Given the description of an element on the screen output the (x, y) to click on. 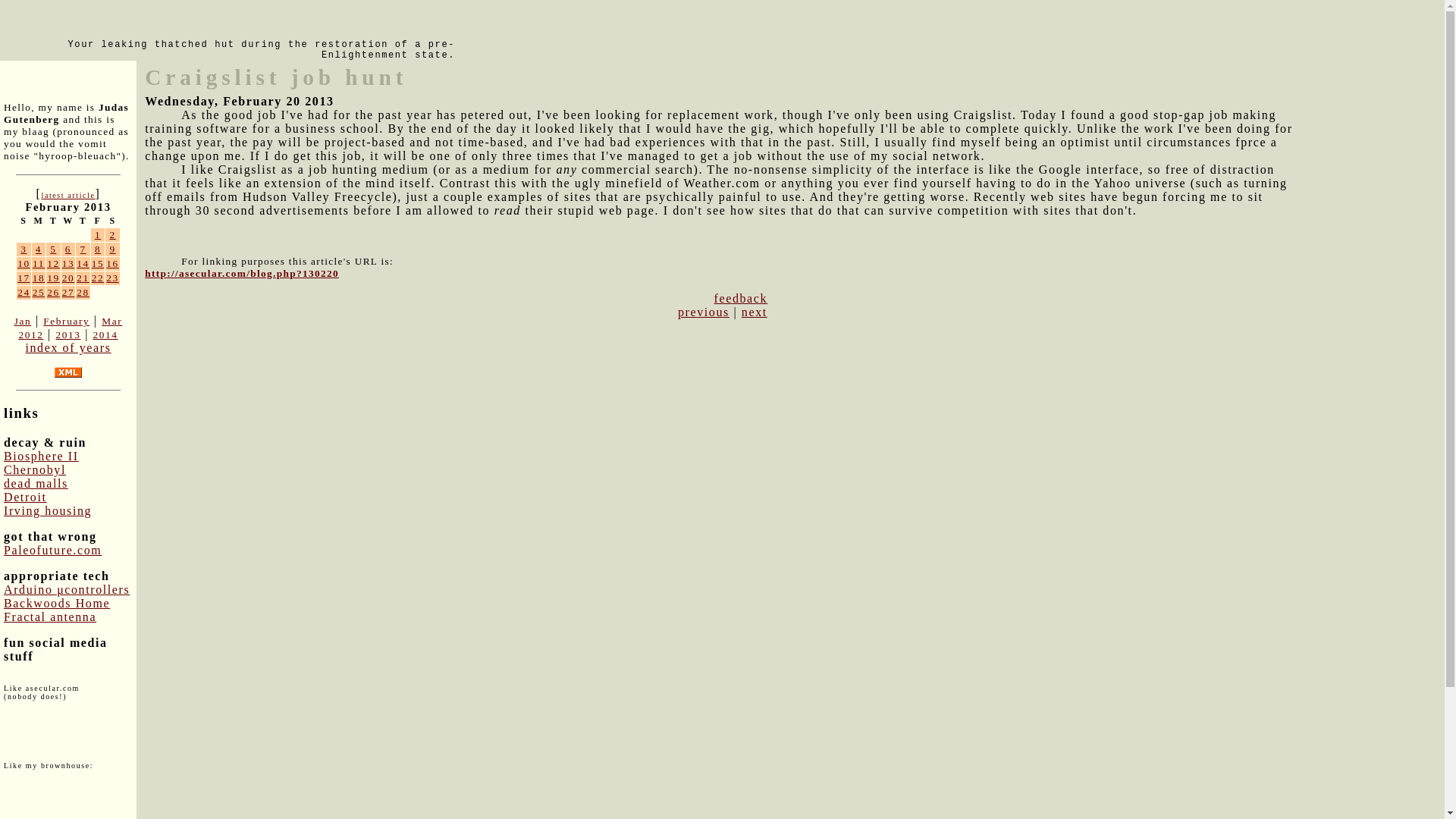
dead malls (36, 482)
index of years (67, 347)
Mar (111, 320)
15 (97, 263)
21 (82, 277)
2014 (105, 334)
25 (38, 292)
23 (112, 277)
26 (52, 292)
14 (82, 263)
Jan (23, 320)
19 (52, 277)
February (65, 320)
17 (23, 277)
18 (38, 277)
